Given the description of an element on the screen output the (x, y) to click on. 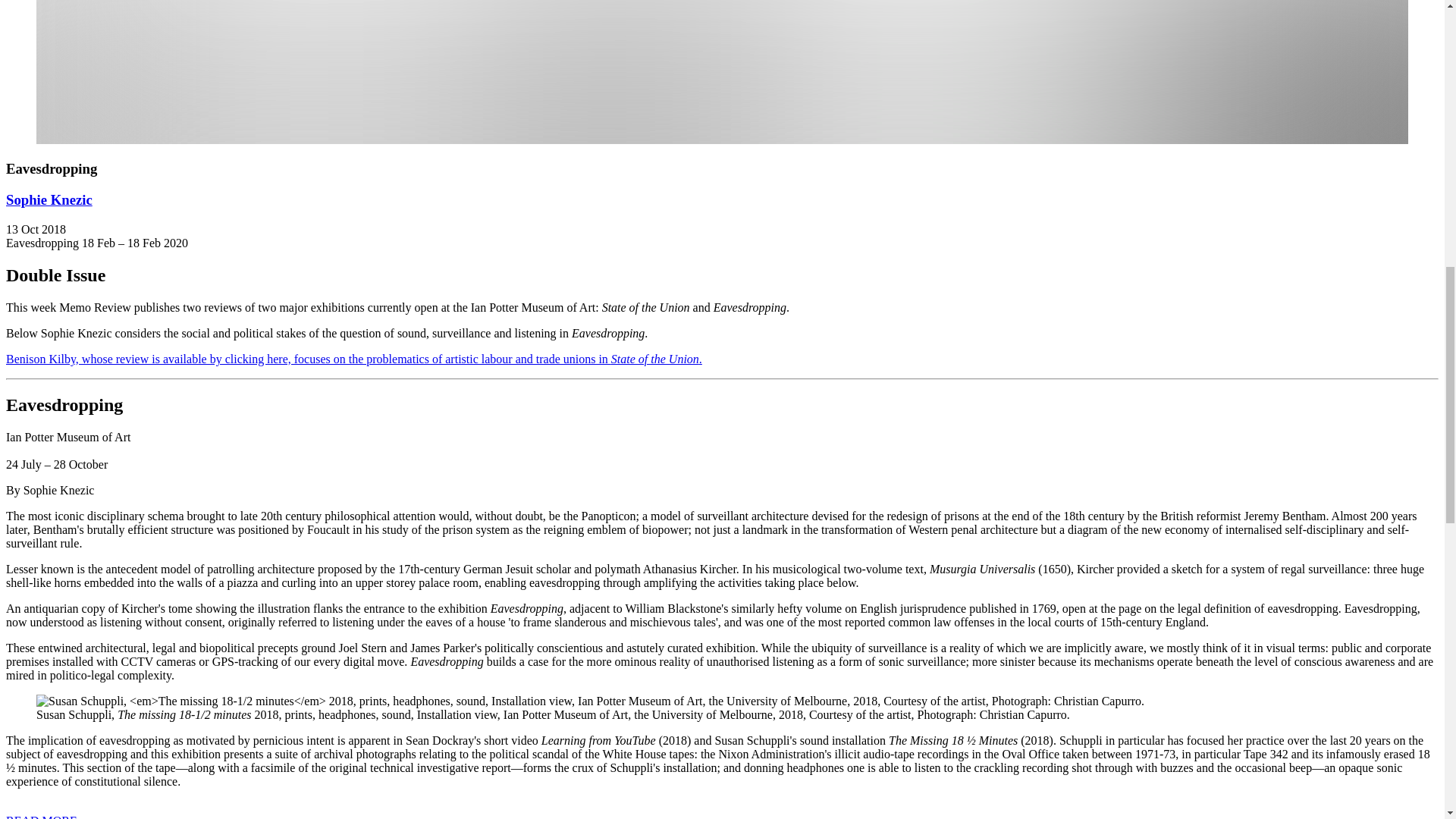
READ MORE (41, 816)
Sophie Knezic (49, 199)
